Given the description of an element on the screen output the (x, y) to click on. 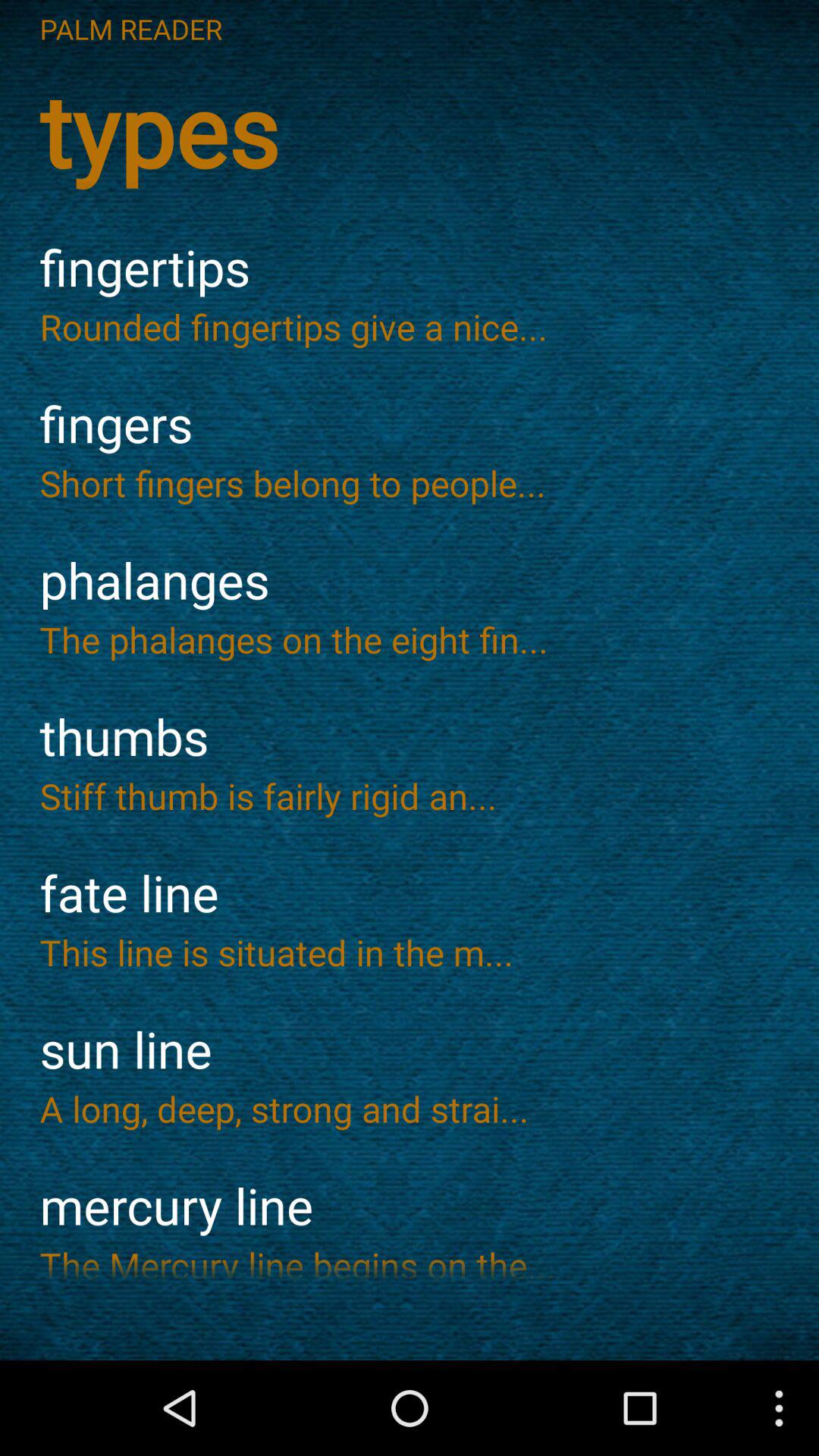
select a long deep app (409, 1108)
